Given the description of an element on the screen output the (x, y) to click on. 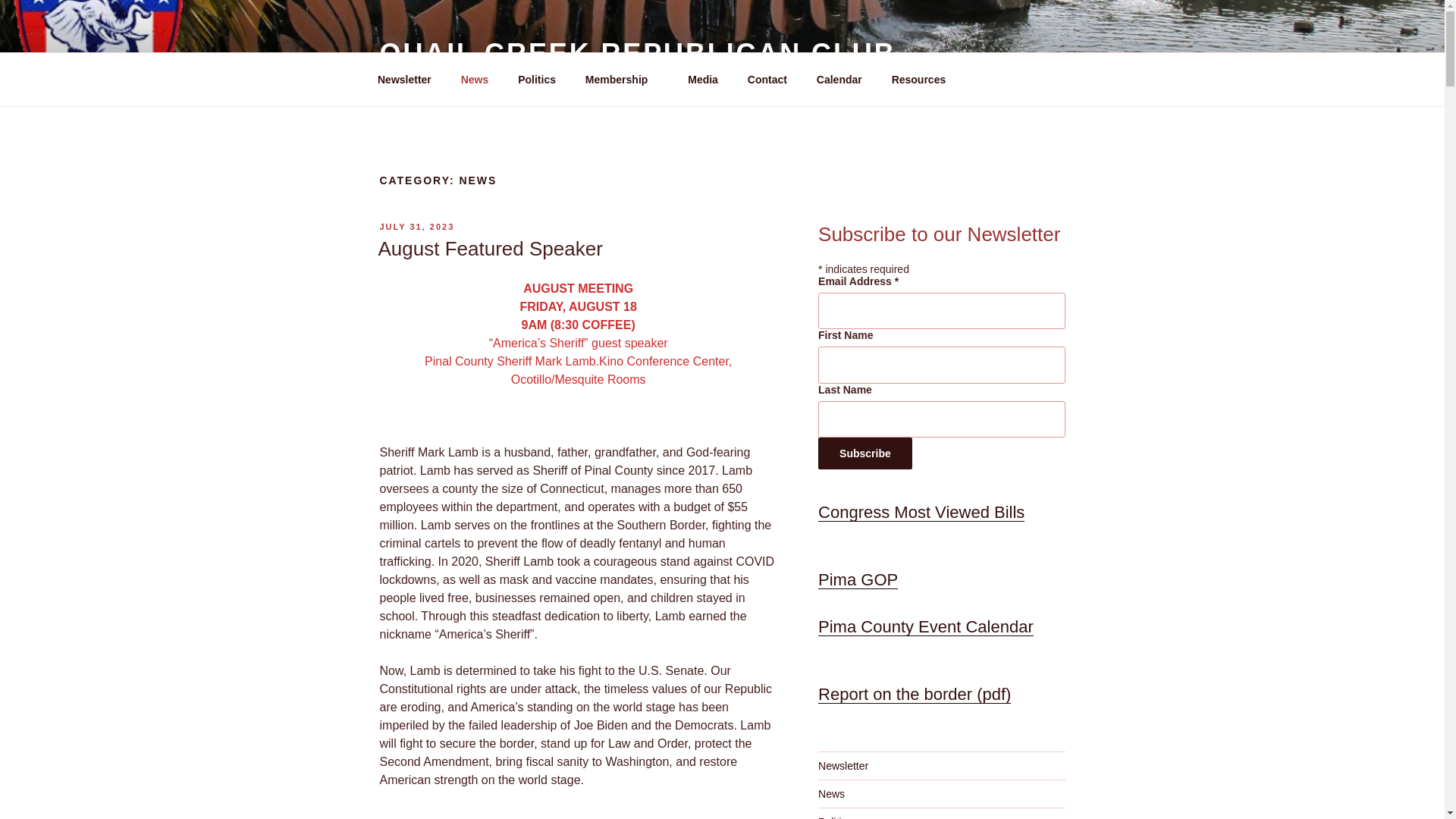
Newsletter (404, 78)
Membership (621, 78)
JULY 31, 2023 (416, 225)
Subscribe (865, 453)
Media (703, 78)
Resources (923, 78)
Contact (766, 78)
August Featured Speaker (489, 248)
QUAIL CREEK REPUBLICAN CLUB (636, 52)
Politics (537, 78)
Calendar (839, 78)
News (474, 78)
